Given the description of an element on the screen output the (x, y) to click on. 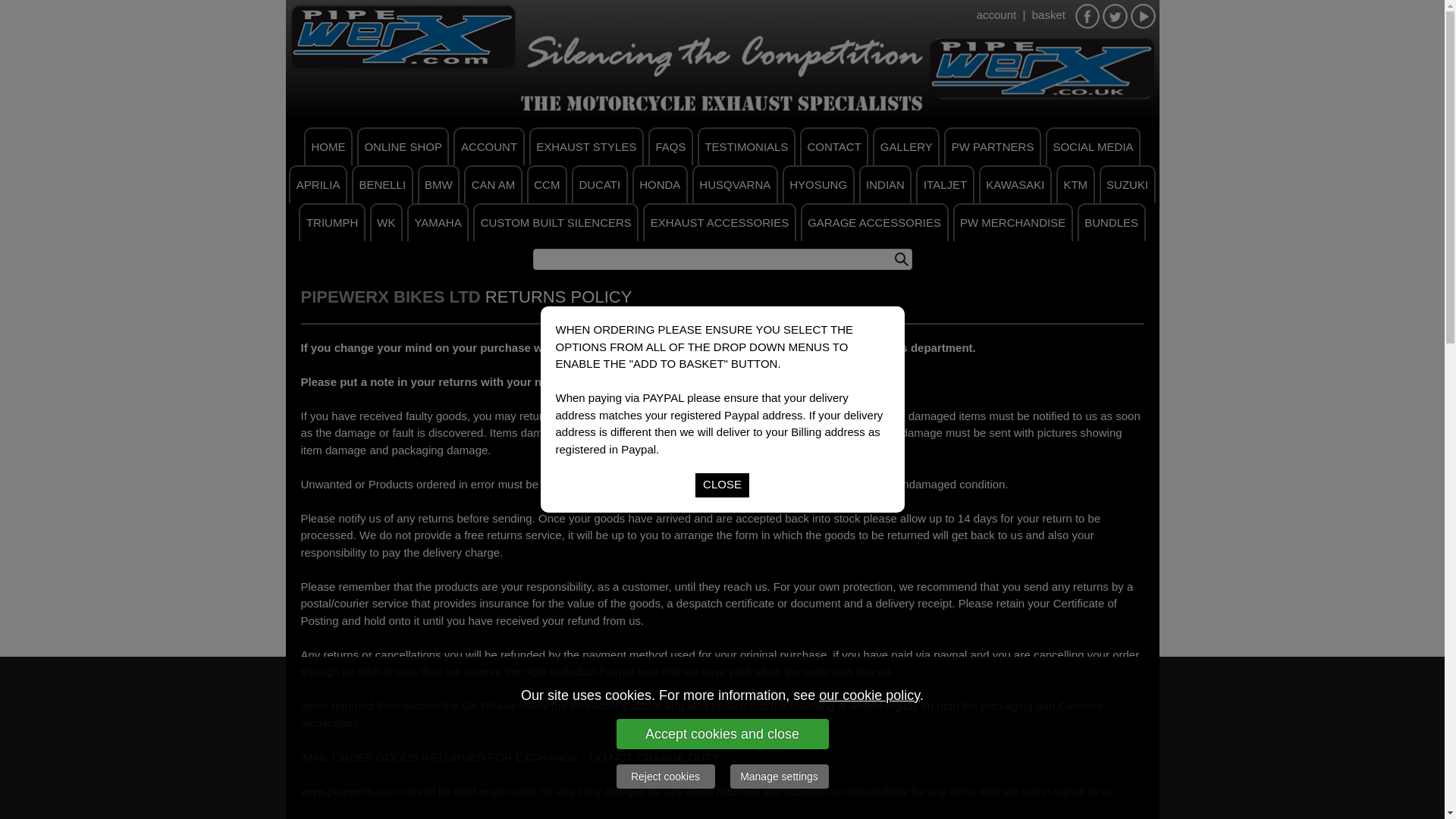
BENELLI (382, 184)
HONDA (659, 184)
APRILIA (317, 184)
CAN AM (493, 184)
GALLERY (905, 146)
KAWASAKI (1014, 184)
CCM (547, 184)
FAQS (670, 146)
HOME (328, 146)
ITALJET (944, 184)
